Given the description of an element on the screen output the (x, y) to click on. 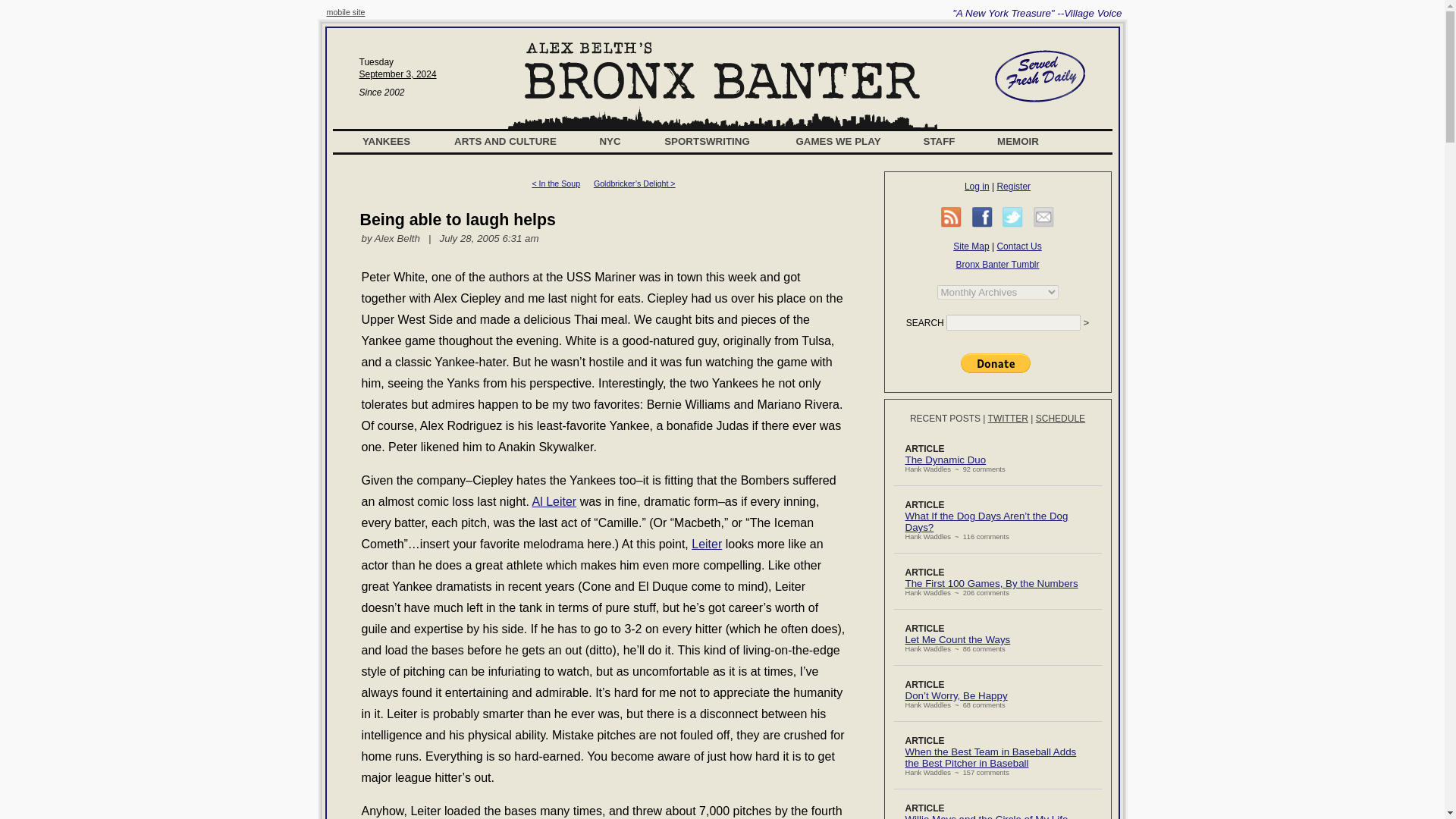
NYC (610, 141)
mobile site (345, 11)
YANKEES (386, 141)
ARTS AND CULTURE (504, 141)
